Given the description of an element on the screen output the (x, y) to click on. 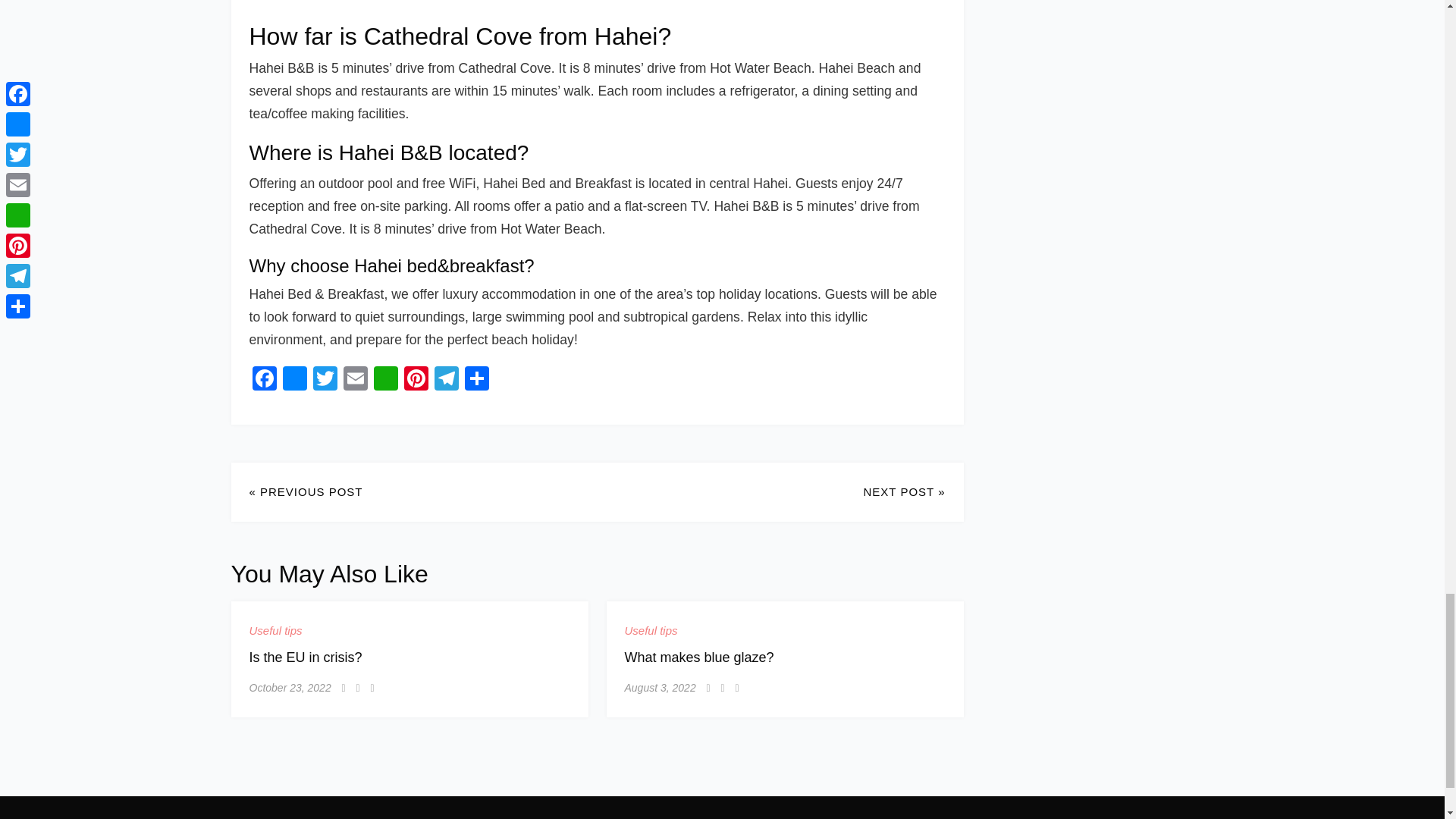
Useful tips (274, 630)
WhatsApp (384, 379)
Pinterest (415, 379)
Pinterest (415, 379)
Email (354, 379)
Telegram (445, 379)
Telegram (445, 379)
Email (354, 379)
Messenger (293, 379)
Twitter (323, 379)
